Given the description of an element on the screen output the (x, y) to click on. 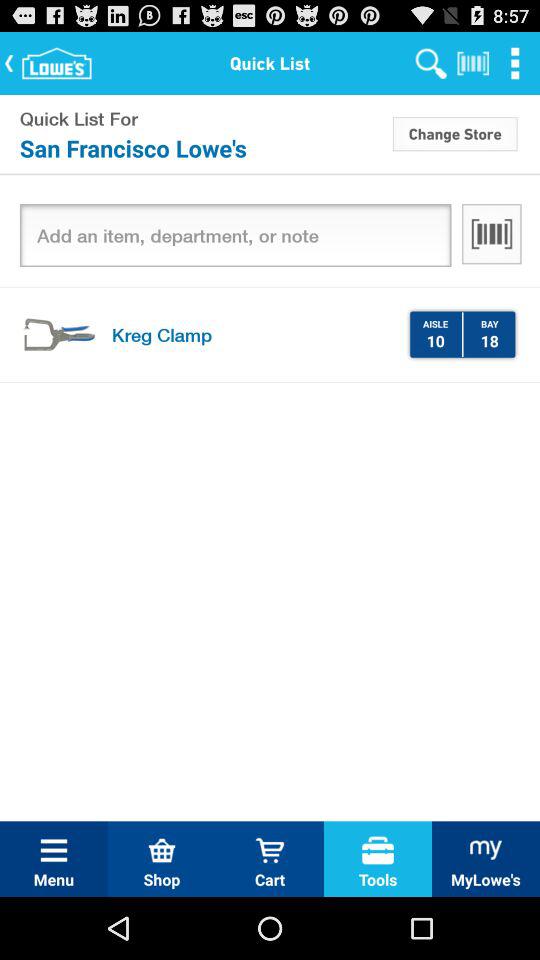
press 10 icon (435, 340)
